Given the description of an element on the screen output the (x, y) to click on. 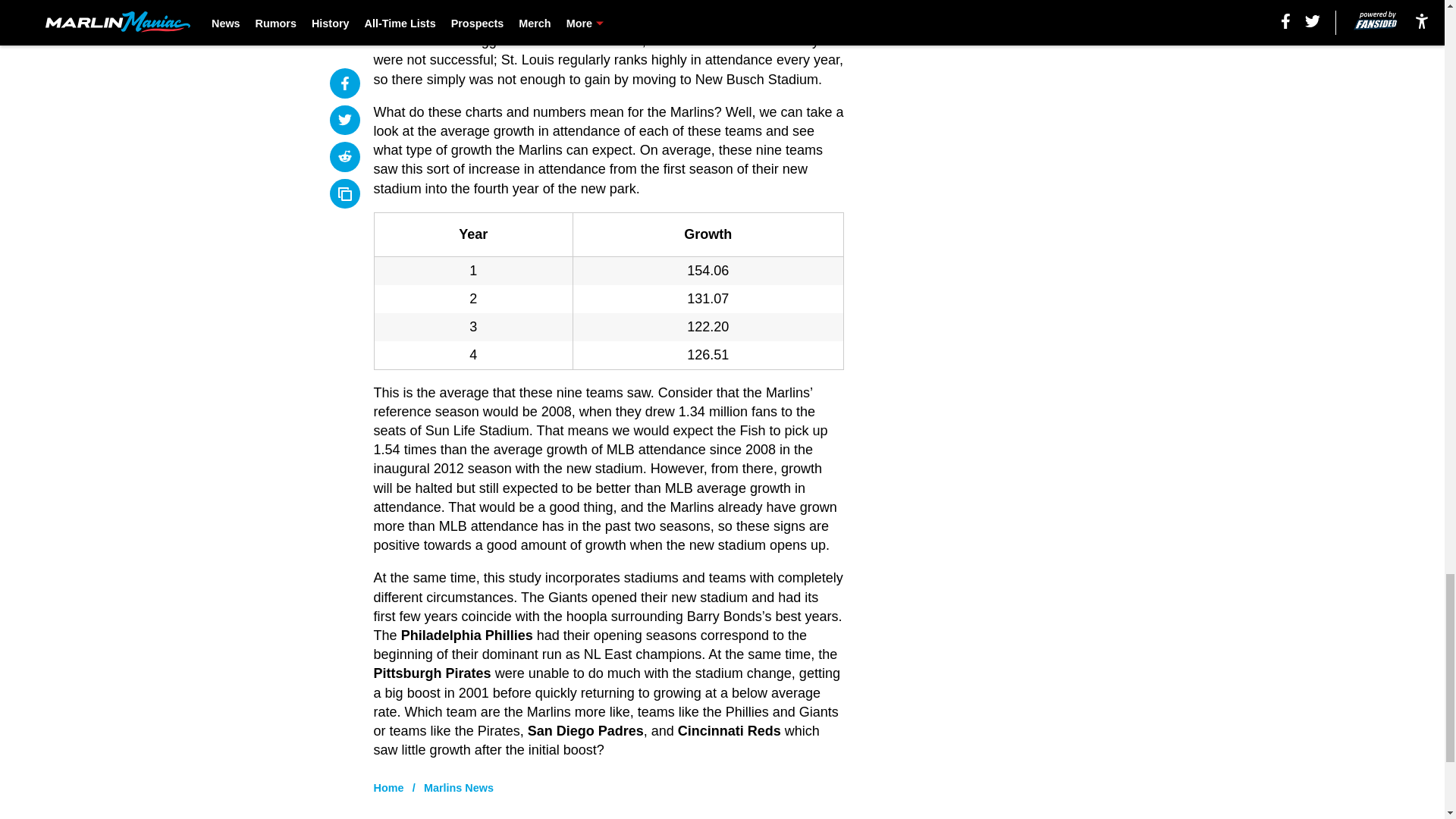
Home (389, 787)
Marlins News (609, 291)
